Given the description of an element on the screen output the (x, y) to click on. 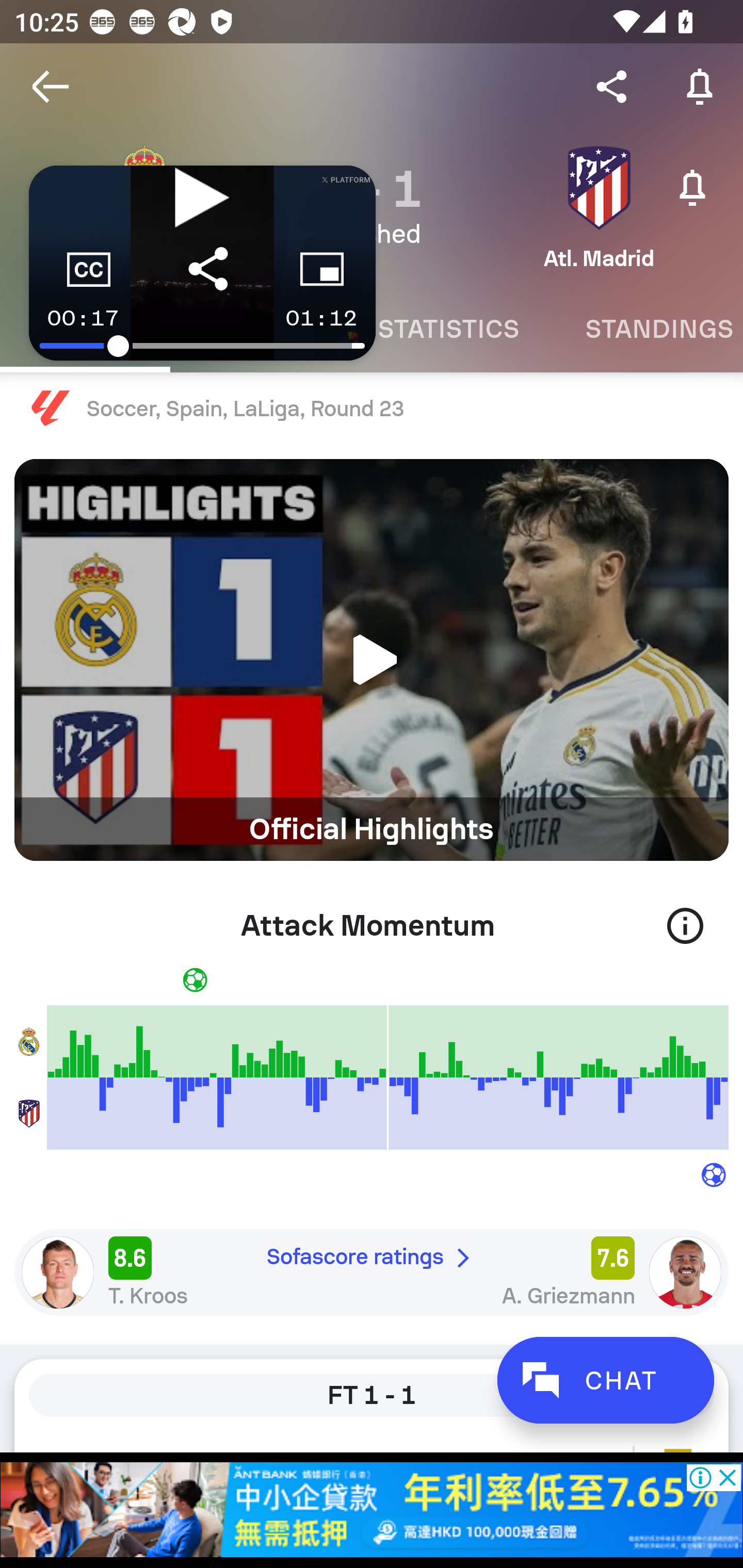
Navigate up (50, 86)
Statistics STATISTICS (448, 329)
Standings STANDINGS (647, 329)
Soccer, Spain, LaLiga, Round 23 (371, 409)
8.6 Sofascore ratings 7.6 T. Kroos A. Griezmann (371, 1272)
CHAT (605, 1380)
FT 1 - 1 (371, 1395)
